Given the description of an element on the screen output the (x, y) to click on. 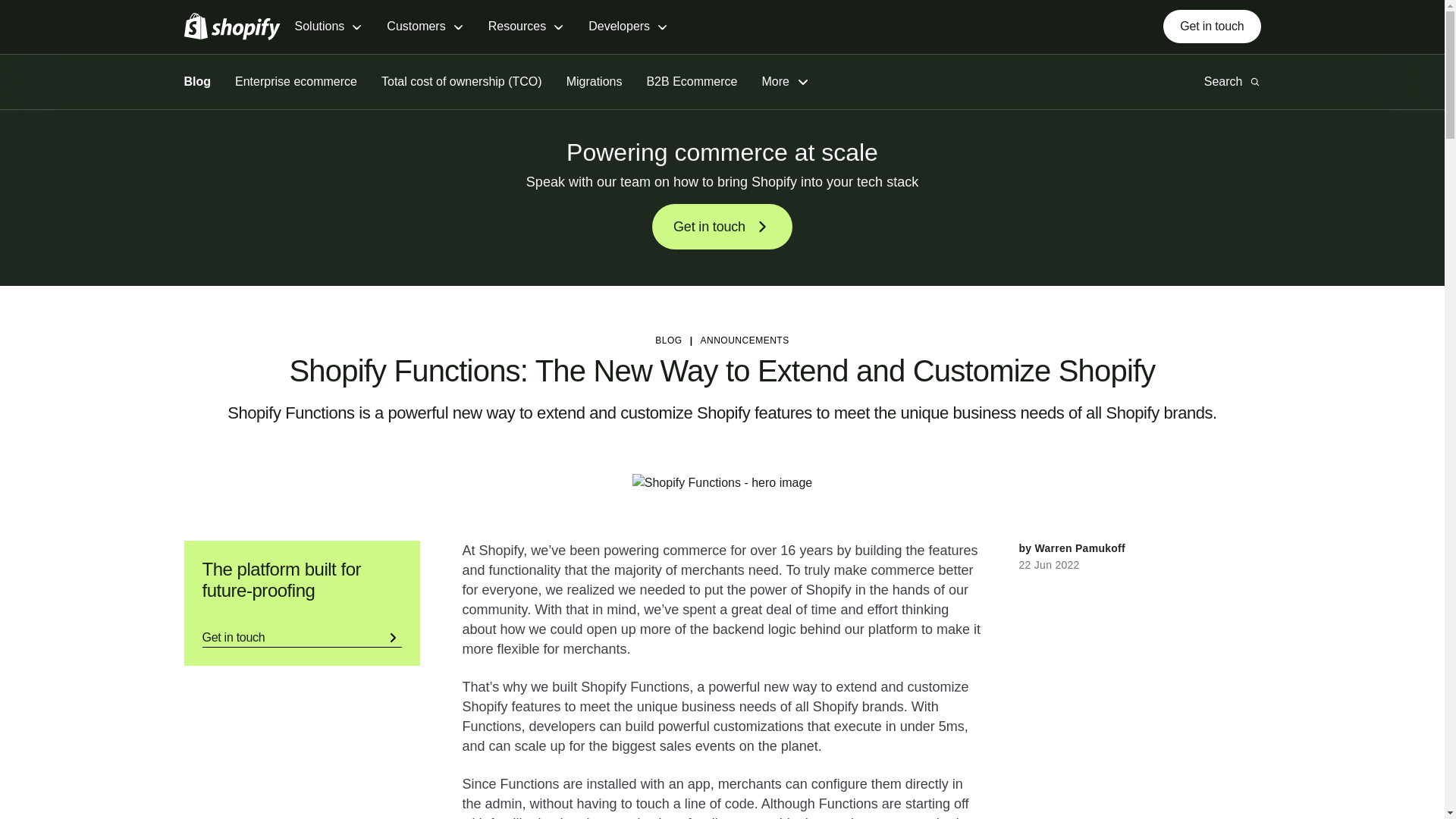
Solutions (328, 27)
Resources (525, 27)
Developers (628, 27)
Customers (425, 27)
